Given the description of an element on the screen output the (x, y) to click on. 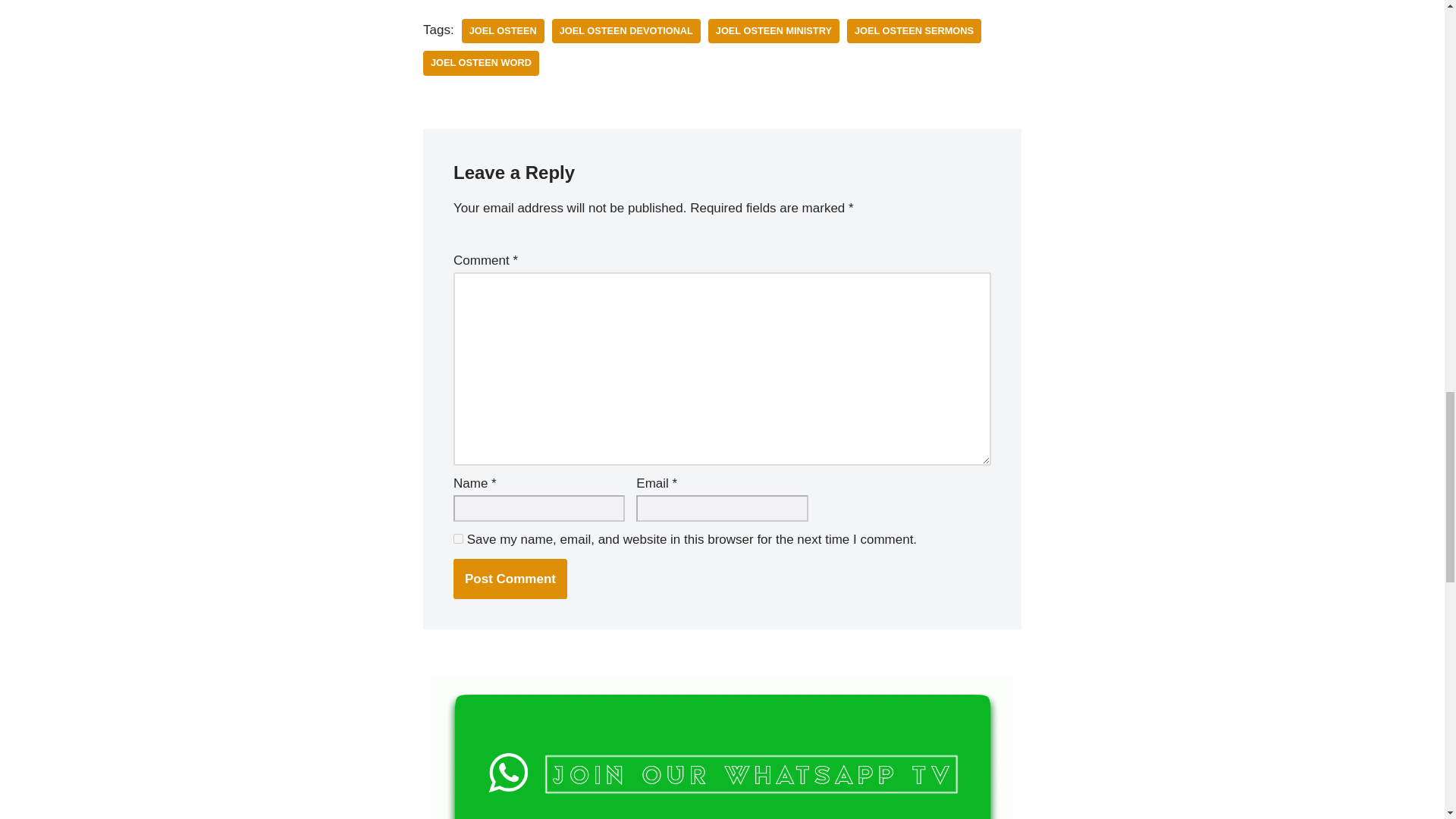
Joel Osteen ministry (773, 31)
yes (457, 538)
JOEL OSTEEN DEVOTIONAL (625, 31)
Post Comment (509, 578)
JOEL OSTEEN WORD (480, 63)
Joel Osteen word (480, 63)
Joel Osteen Devotional (625, 31)
JOEL OSTEEN SERMONS (914, 31)
JOEL OSTEEN (502, 31)
Joel Osteen Sermons (914, 31)
JOEL OSTEEN MINISTRY (773, 31)
Joel Osteen (502, 31)
